Given the description of an element on the screen output the (x, y) to click on. 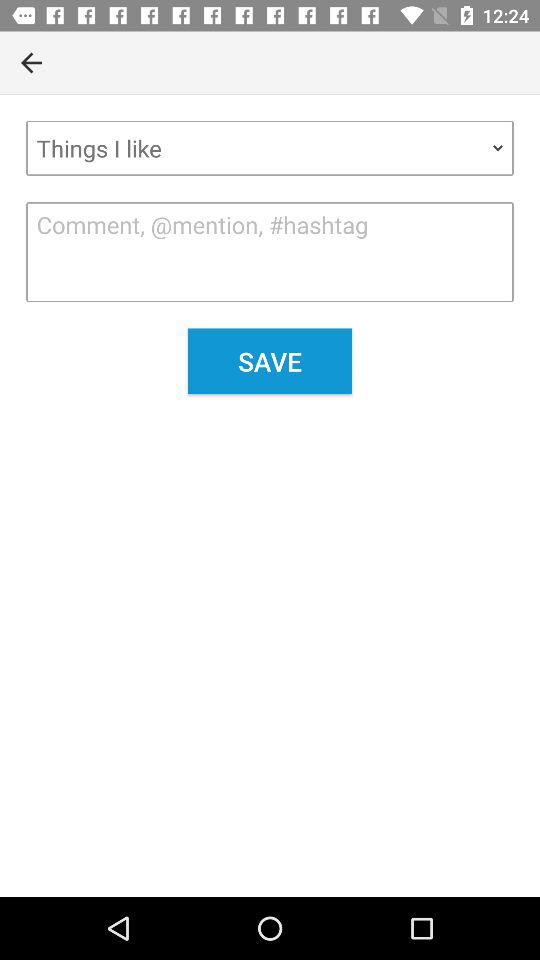
turn off the item below things i like item (269, 252)
